Given the description of an element on the screen output the (x, y) to click on. 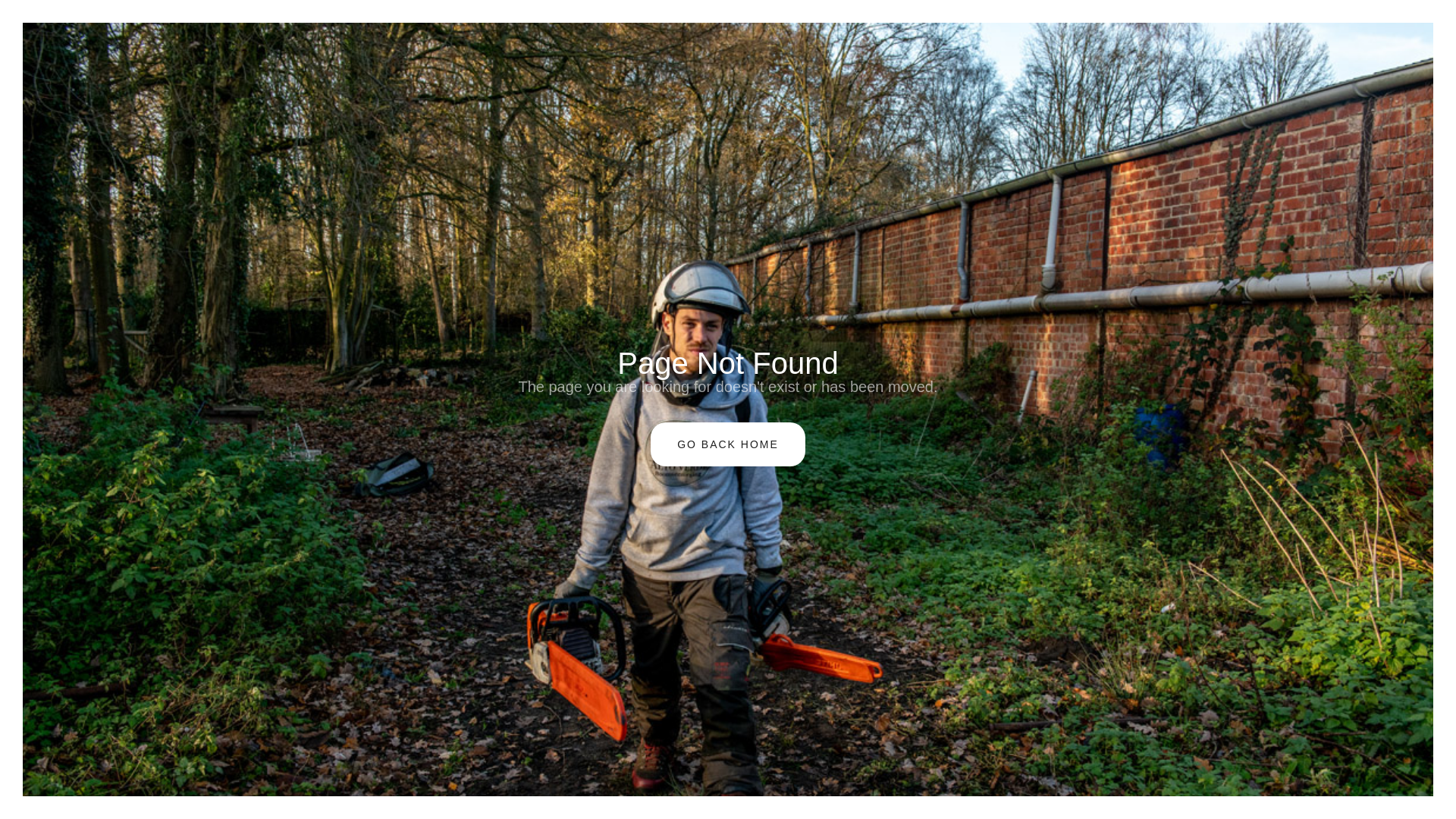
GO BACK HOME Element type: text (727, 444)
